Given the description of an element on the screen output the (x, y) to click on. 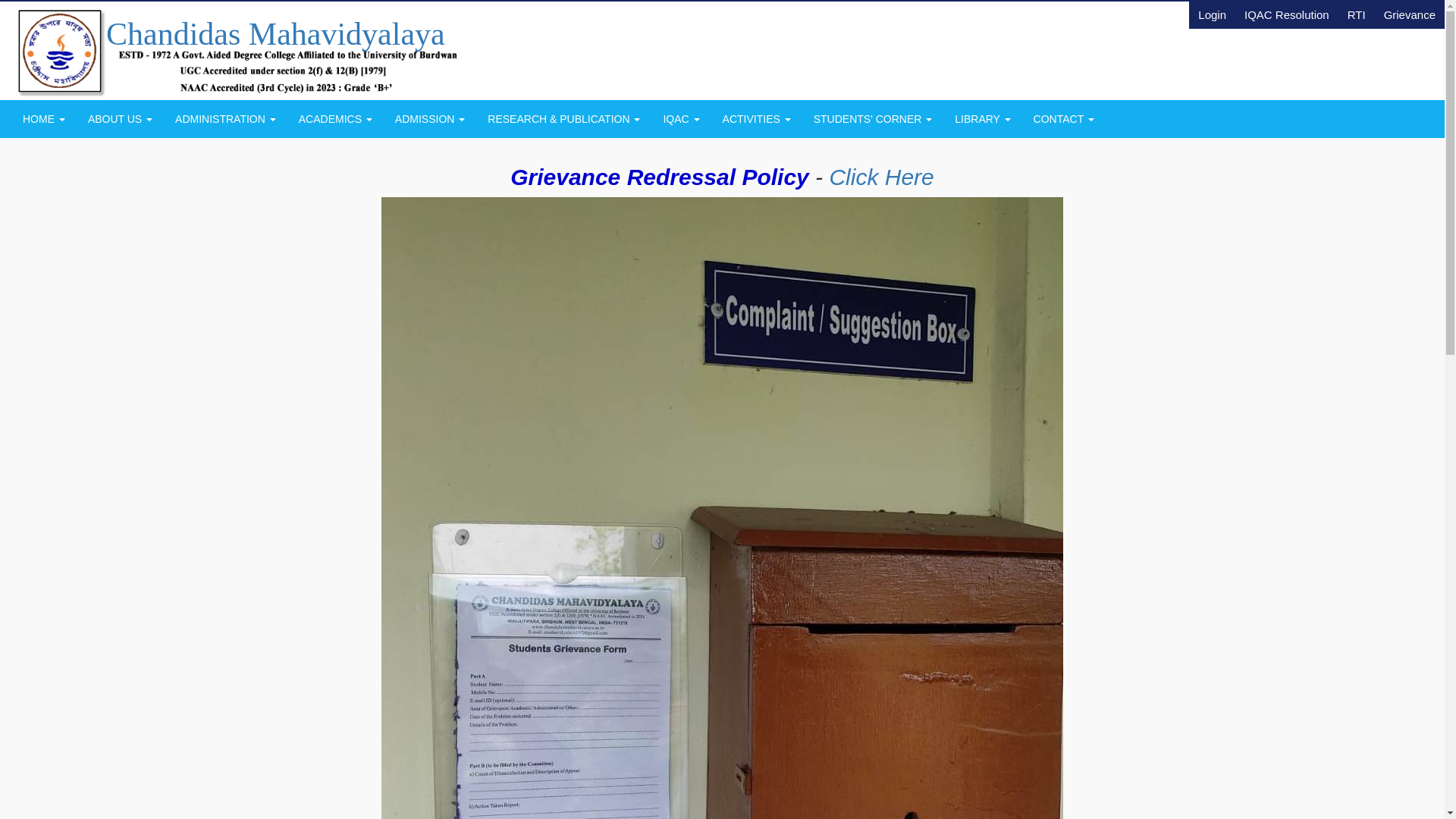
Login (1211, 14)
HOME (44, 118)
ADMINISTRATION (224, 118)
Grievance (1409, 14)
RTI (1356, 14)
ACADEMICS (335, 118)
ABOUT US (120, 118)
IQAC Resolution (1286, 14)
